Given the description of an element on the screen output the (x, y) to click on. 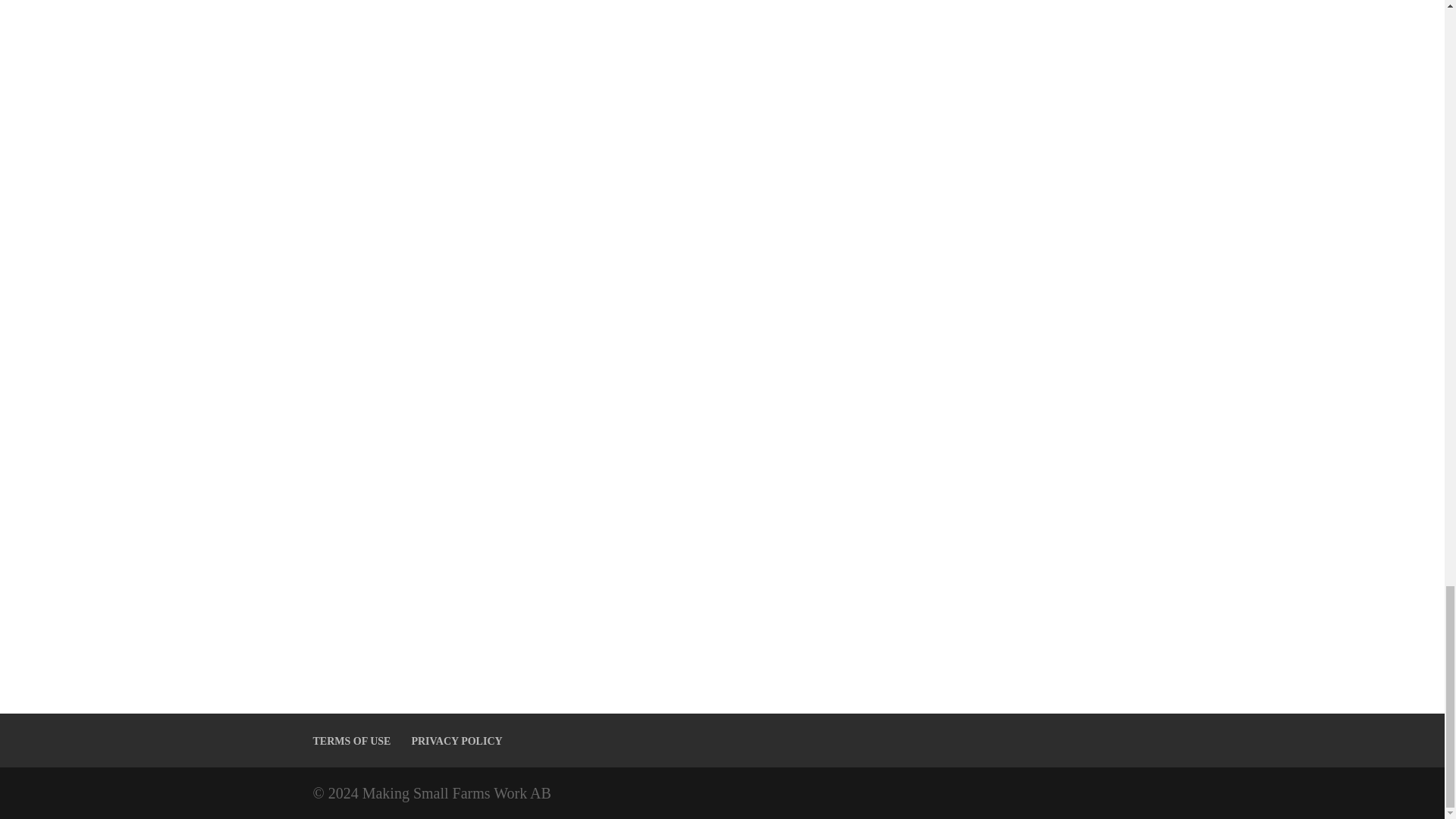
GET IT NOW (434, 590)
GET ON THE LIST (1010, 100)
GET IT NOW (722, 101)
PRIVACY POLICY (456, 740)
GET IT NOW (722, 333)
GET ON THE LIST (1010, 333)
TERMS OF USE (351, 740)
